Given the description of an element on the screen output the (x, y) to click on. 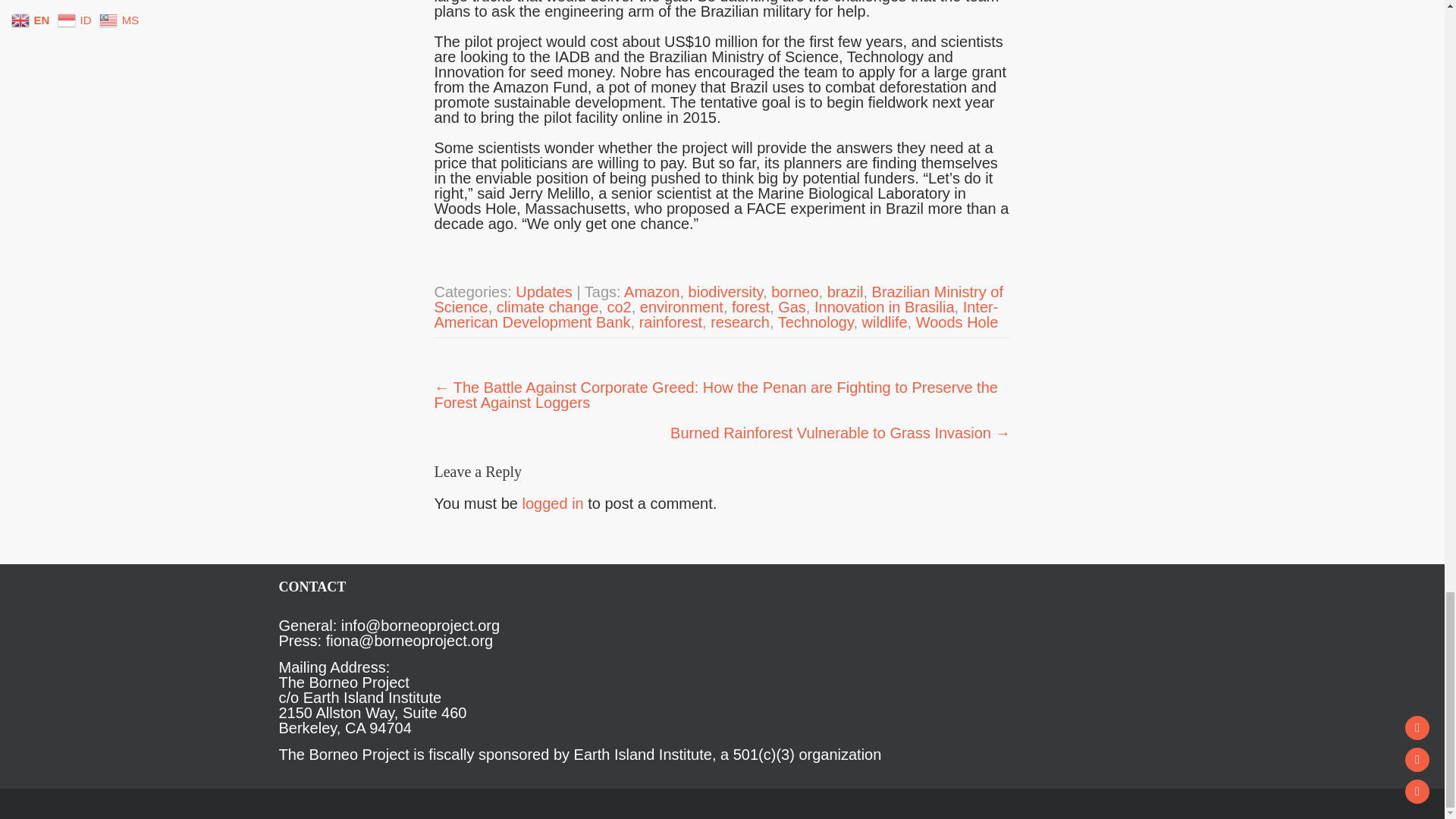
View all posts in Updates (543, 291)
Amazon (651, 291)
borneo (794, 291)
brazil (845, 291)
biodiversity (725, 291)
Updates (543, 291)
